Given the description of an element on the screen output the (x, y) to click on. 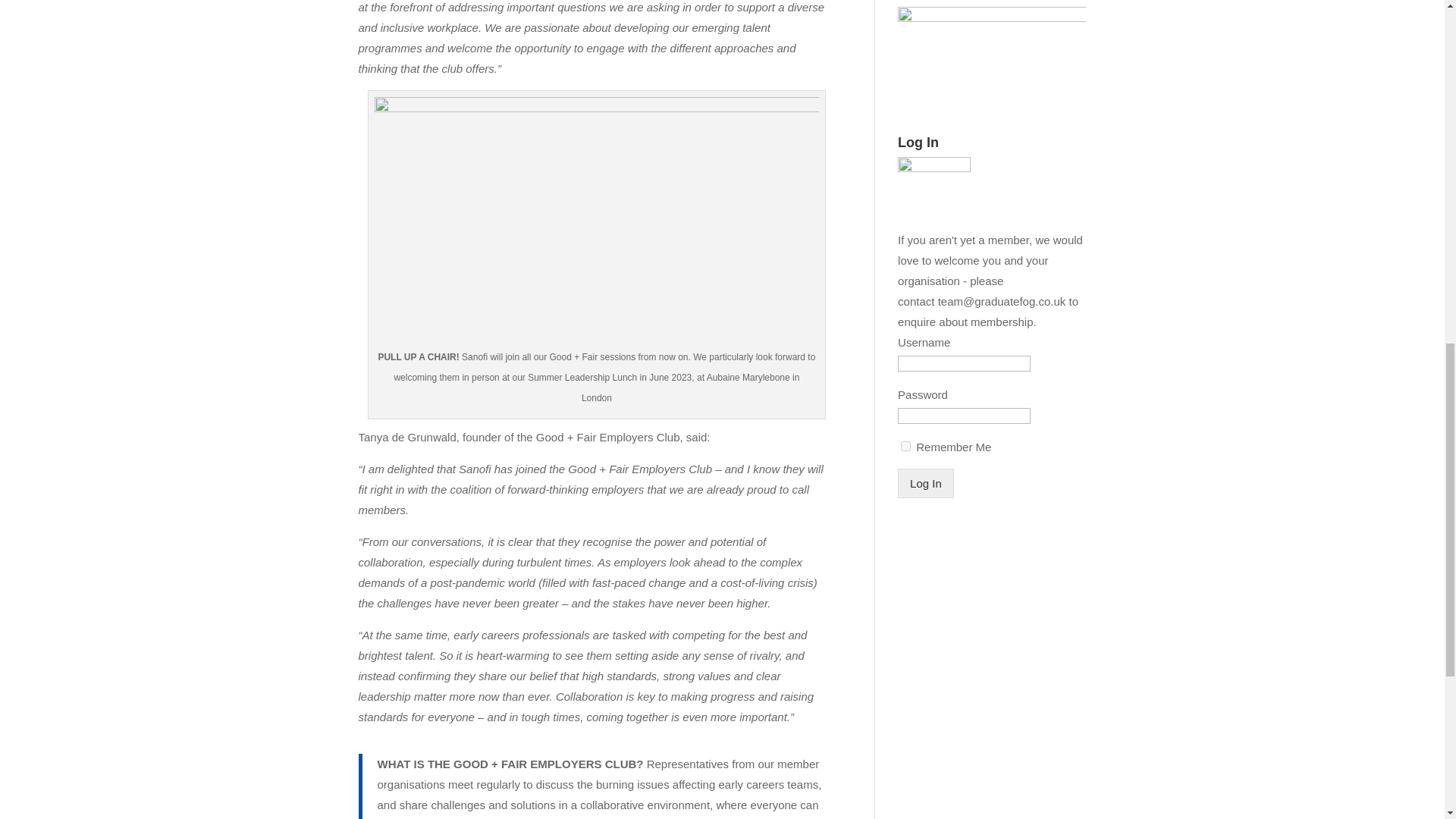
Log In (925, 482)
forever (906, 446)
Log In (925, 482)
